Given the description of an element on the screen output the (x, y) to click on. 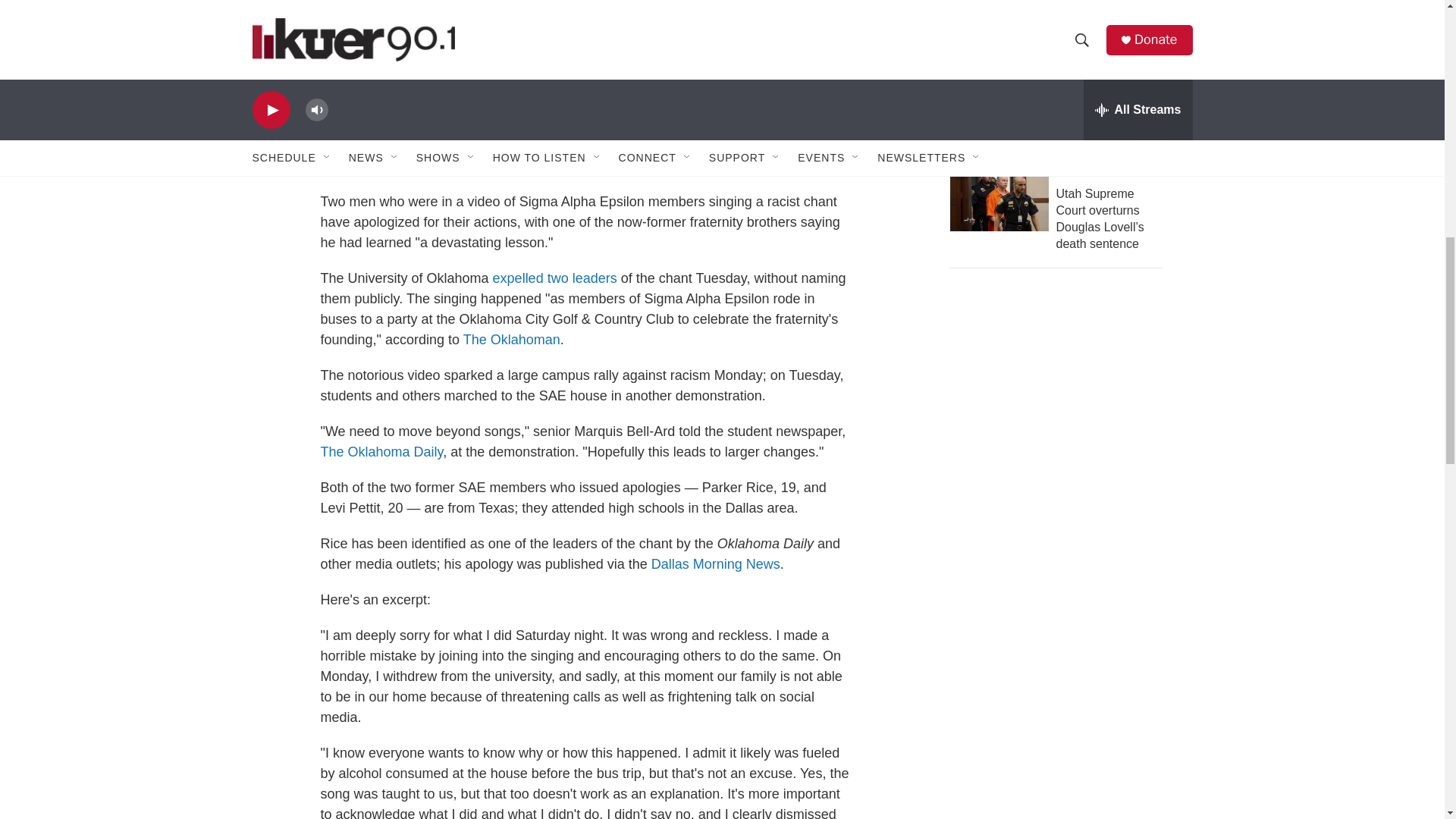
3rd party ad content (1062, 669)
3rd party ad content (1062, 412)
